Given the description of an element on the screen output the (x, y) to click on. 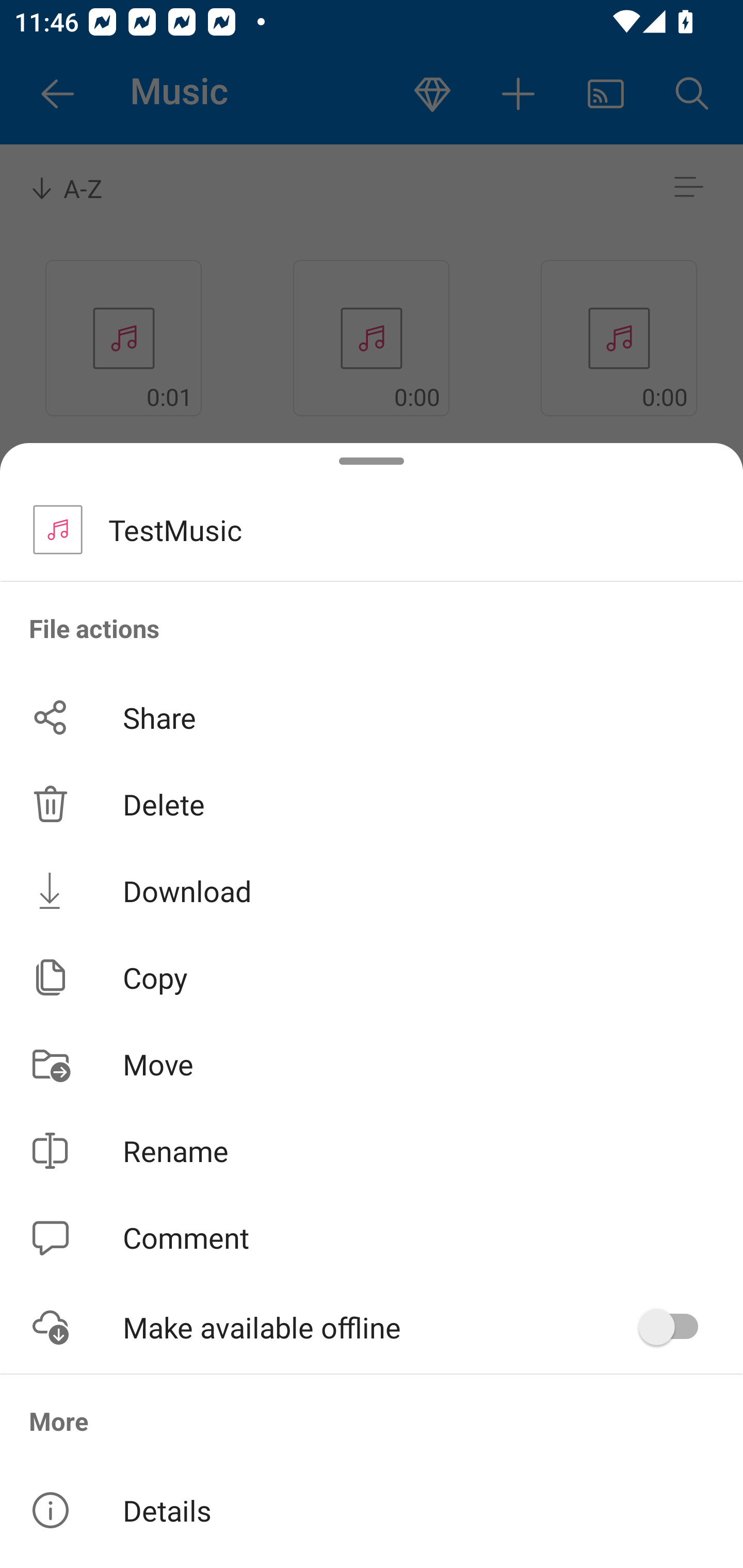
Share button Share (371, 717)
Delete button Delete (371, 803)
Download button Download (371, 890)
Copy button Copy (371, 977)
Move button Move (371, 1063)
Rename button Rename (371, 1150)
Comment button Comment (371, 1237)
Make offline operation (674, 1327)
Details button Details (371, 1510)
